Given the description of an element on the screen output the (x, y) to click on. 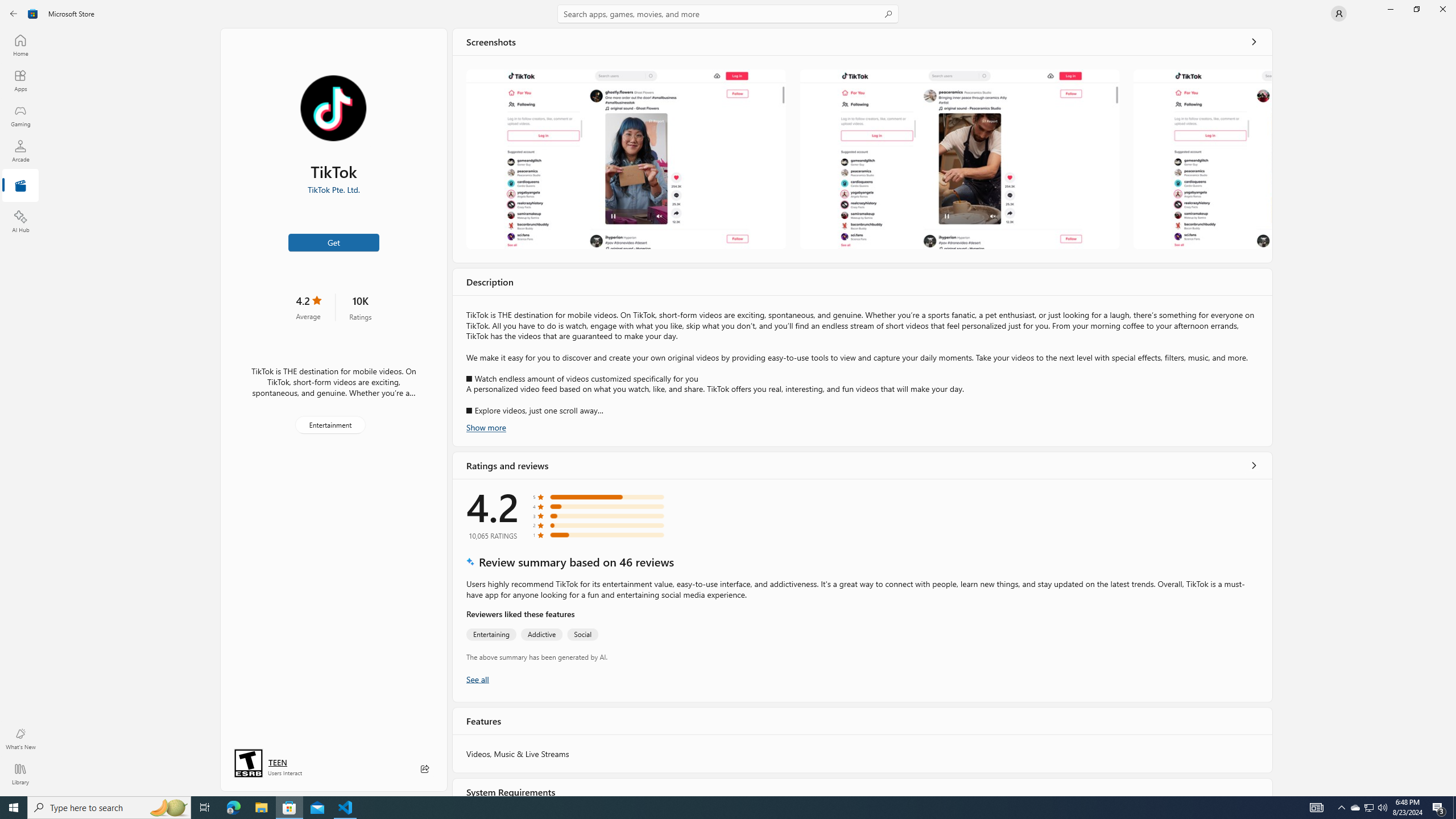
Class: Image (32, 13)
Get (334, 241)
Entertainment (20, 185)
Search (727, 13)
Back (13, 13)
What's New (20, 738)
AutomationID: NavigationControl (728, 398)
Show all ratings and reviews (1253, 465)
Home (20, 45)
Restore Microsoft Store (1416, 9)
Age rating: TEEN. Click for more information. (276, 762)
See all (1253, 41)
4.2 stars. Click to skip to ratings and reviews (307, 306)
Show more (485, 426)
Screenshot 3 (1201, 158)
